Given the description of an element on the screen output the (x, y) to click on. 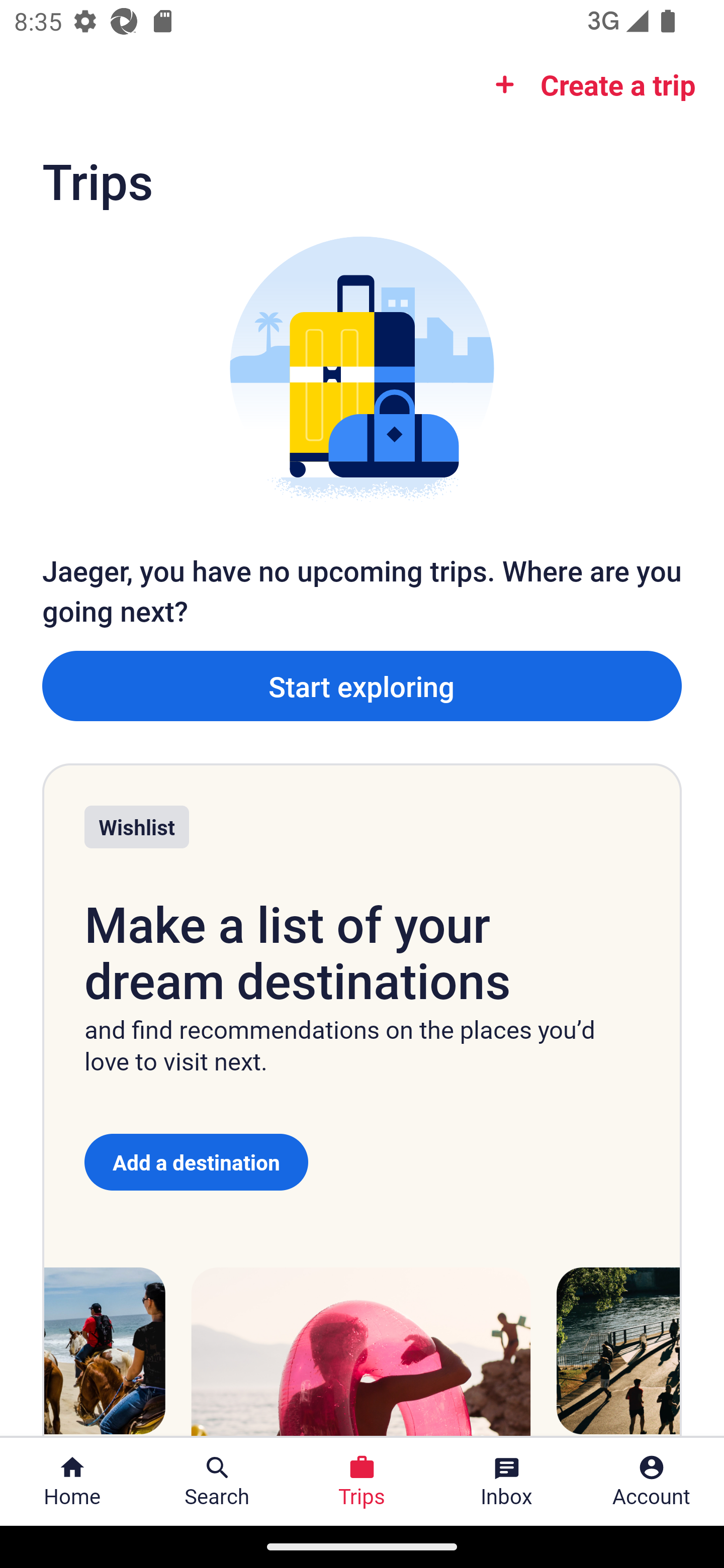
Create a trip Create a trip Button (589, 84)
Start exploring Button Start exploring (361, 685)
Add a destination (196, 1161)
Home Home Button (72, 1481)
Search Search Button (216, 1481)
Inbox Inbox Button (506, 1481)
Account Profile. Button (651, 1481)
